Given the description of an element on the screen output the (x, y) to click on. 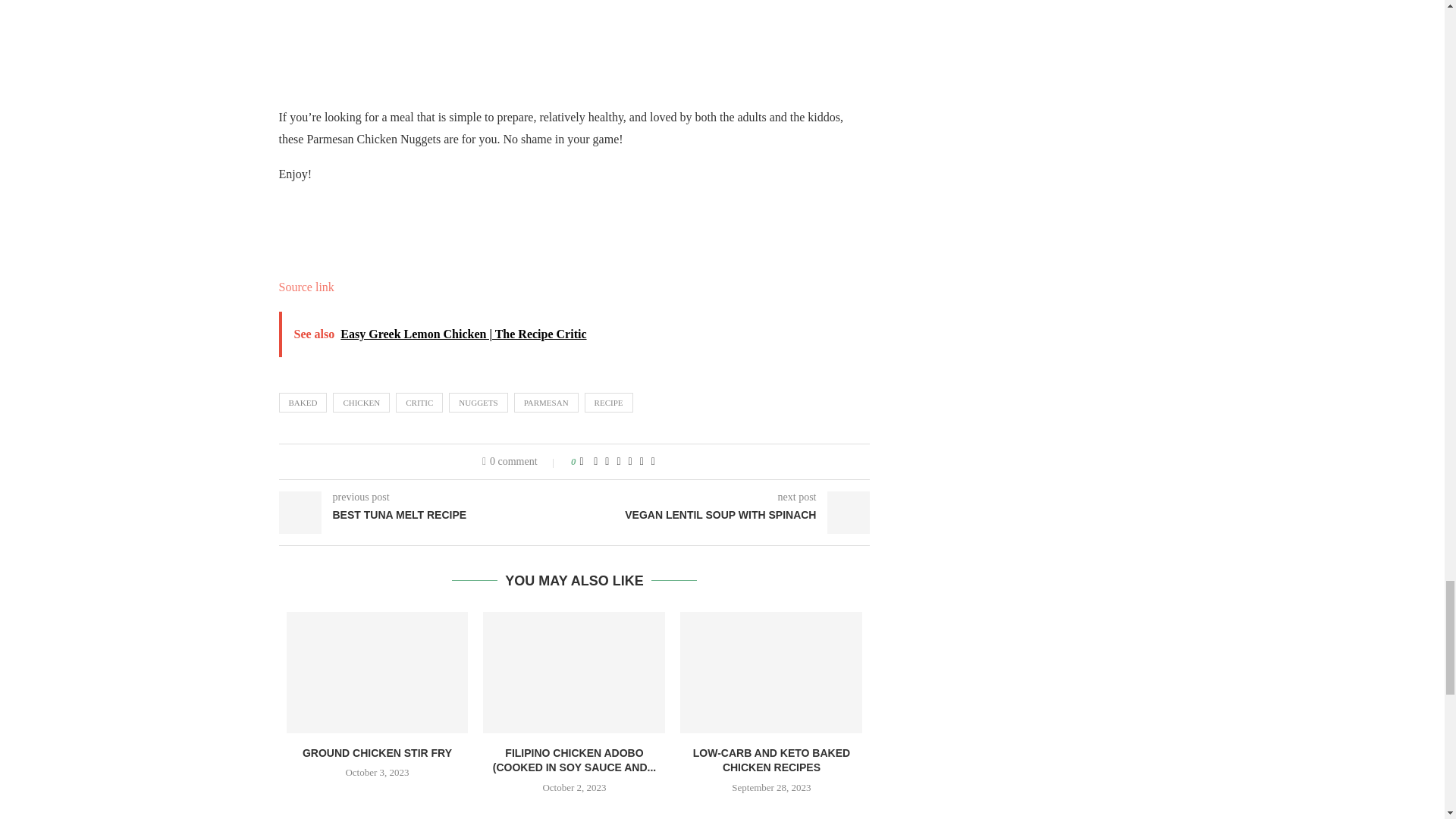
Low-Carb and Keto Baked Chicken Recipes (770, 672)
Ground Chicken Stir Fry (377, 672)
